Given the description of an element on the screen output the (x, y) to click on. 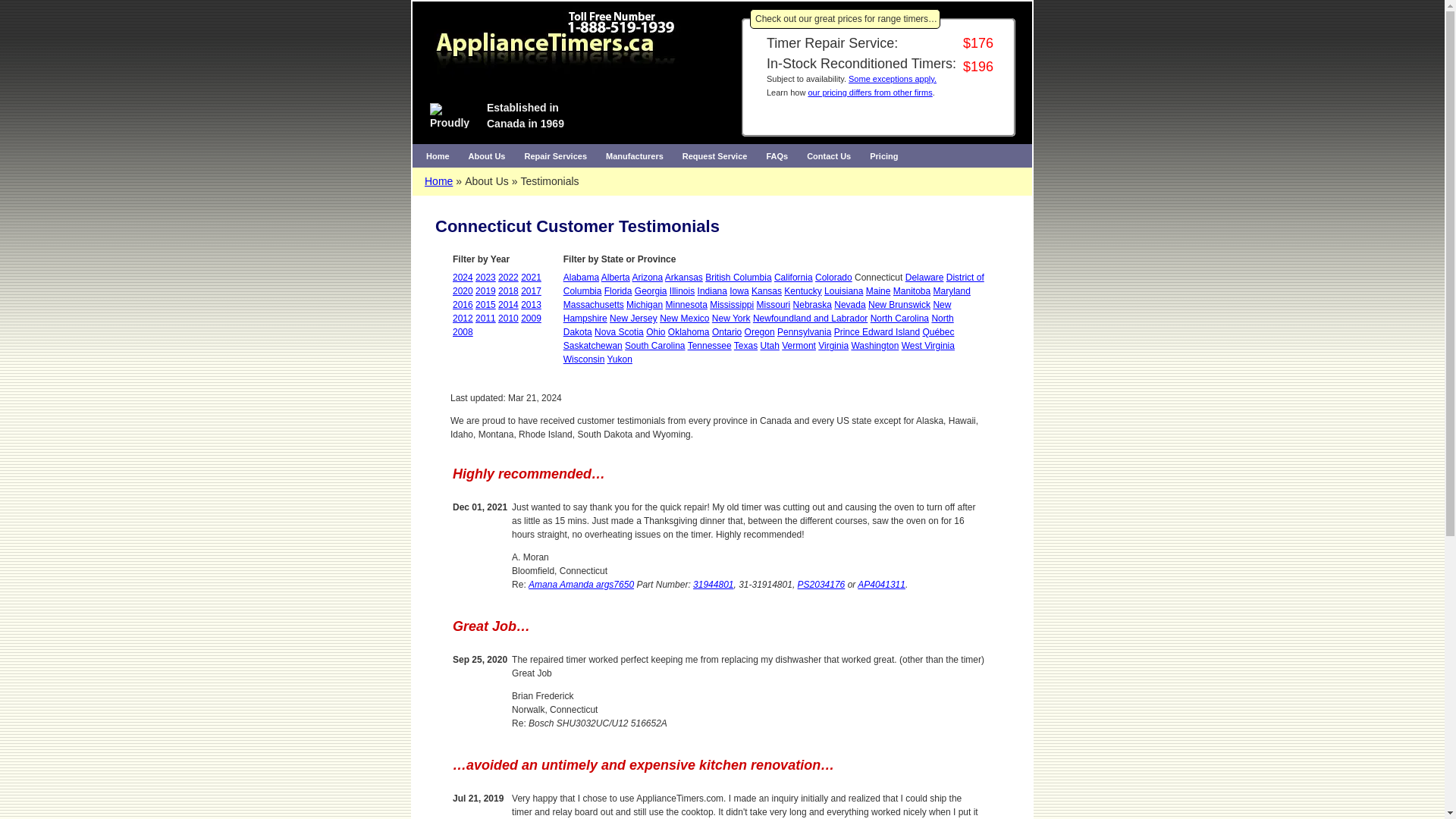
our pricing differs from other firms (869, 92)
Some exceptions apply. (892, 78)
2017 (531, 290)
Request Service (714, 156)
Manufacturers (634, 156)
Repair Services (555, 156)
Contact Us (828, 156)
Find answers to questions commonly asked by our visitors (776, 156)
2016 (462, 304)
2022 (507, 276)
